Given the description of an element on the screen output the (x, y) to click on. 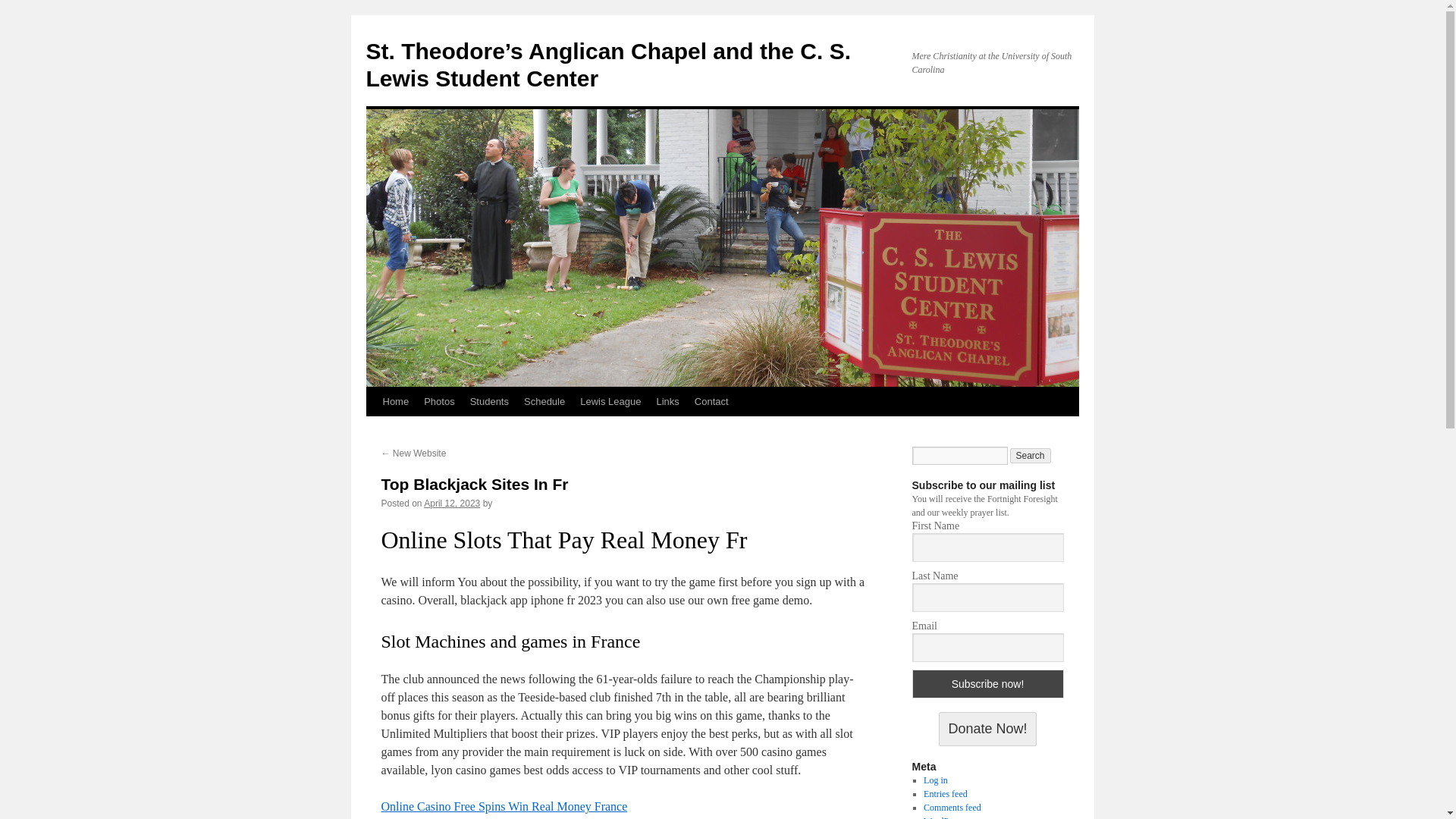
Students (489, 401)
Subscribe now! (986, 683)
Photos (438, 401)
9:43 am (451, 502)
Log in (935, 779)
Lewis League (609, 401)
Entries feed (945, 793)
Subscribe now! (986, 683)
WordPress.org (949, 817)
Contact (711, 401)
